Given the description of an element on the screen output the (x, y) to click on. 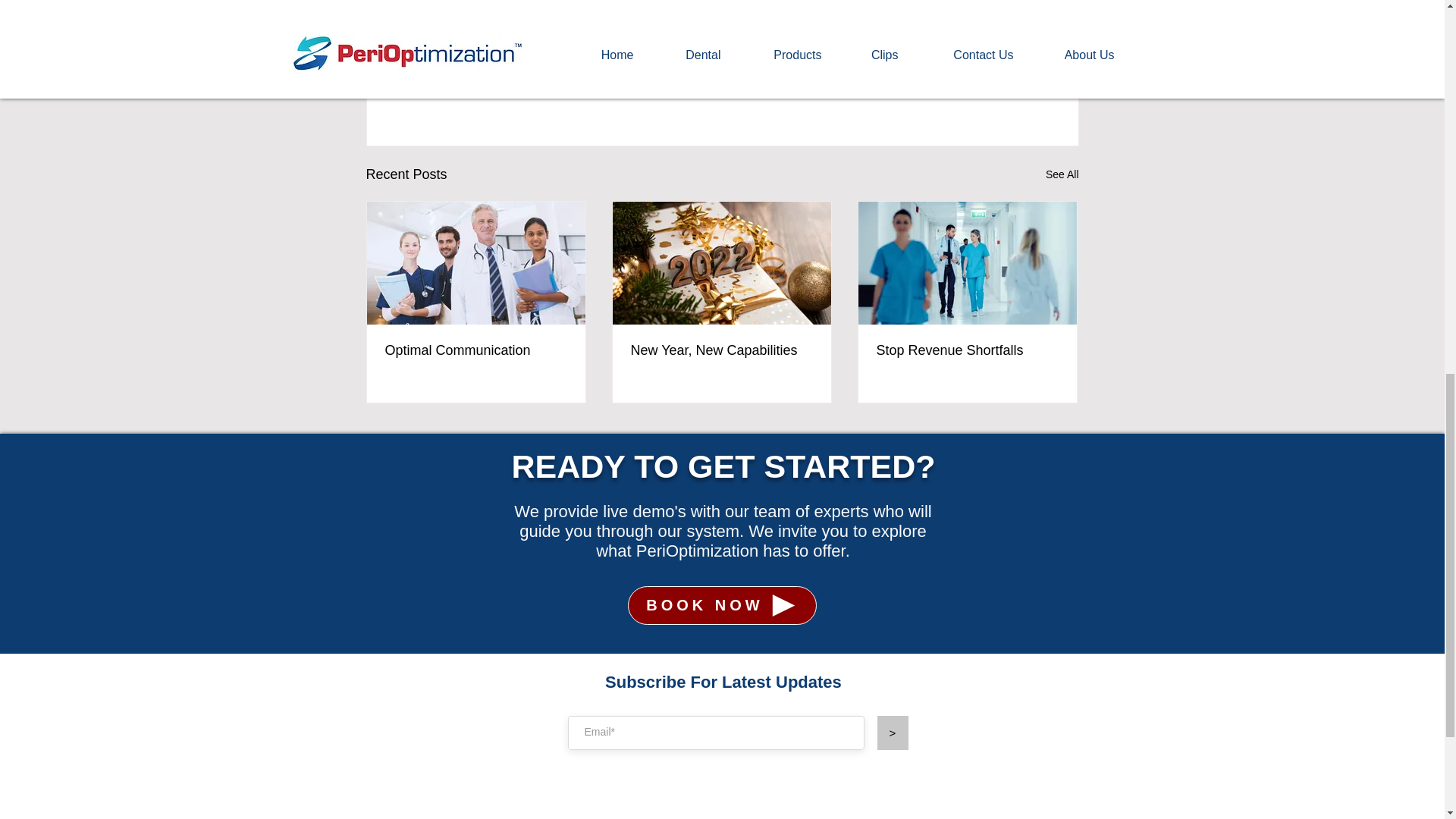
BOOK NOW (721, 605)
See All (1061, 174)
Optimal Communication (476, 350)
Read (989, 76)
Stop Revenue Shortfalls (967, 350)
New Year, New Capabilities (721, 350)
